Given the description of an element on the screen output the (x, y) to click on. 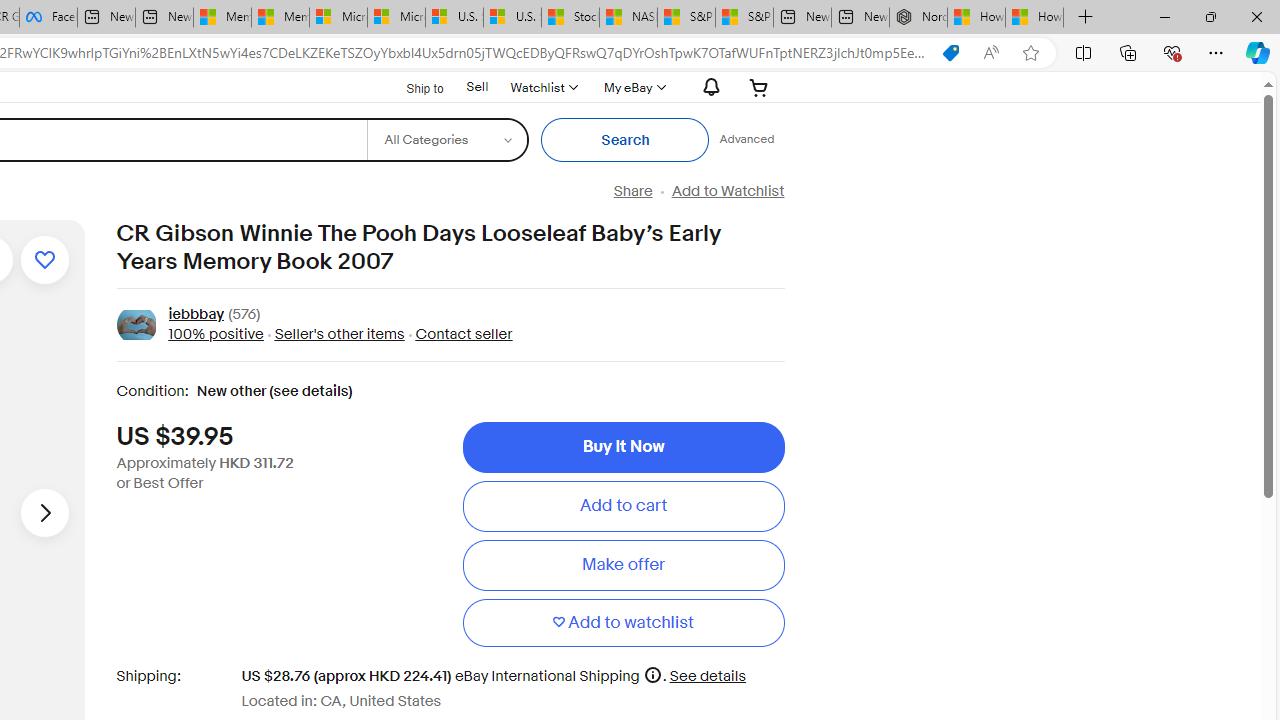
Ship to (412, 88)
100% positive (215, 334)
100% positive (215, 334)
My eBay (632, 87)
Add to watchlist (623, 622)
Select a category for search (447, 139)
Add to cart (623, 506)
  Seller's other items (333, 334)
Ship to (412, 85)
Search (625, 140)
